Given the description of an element on the screen output the (x, y) to click on. 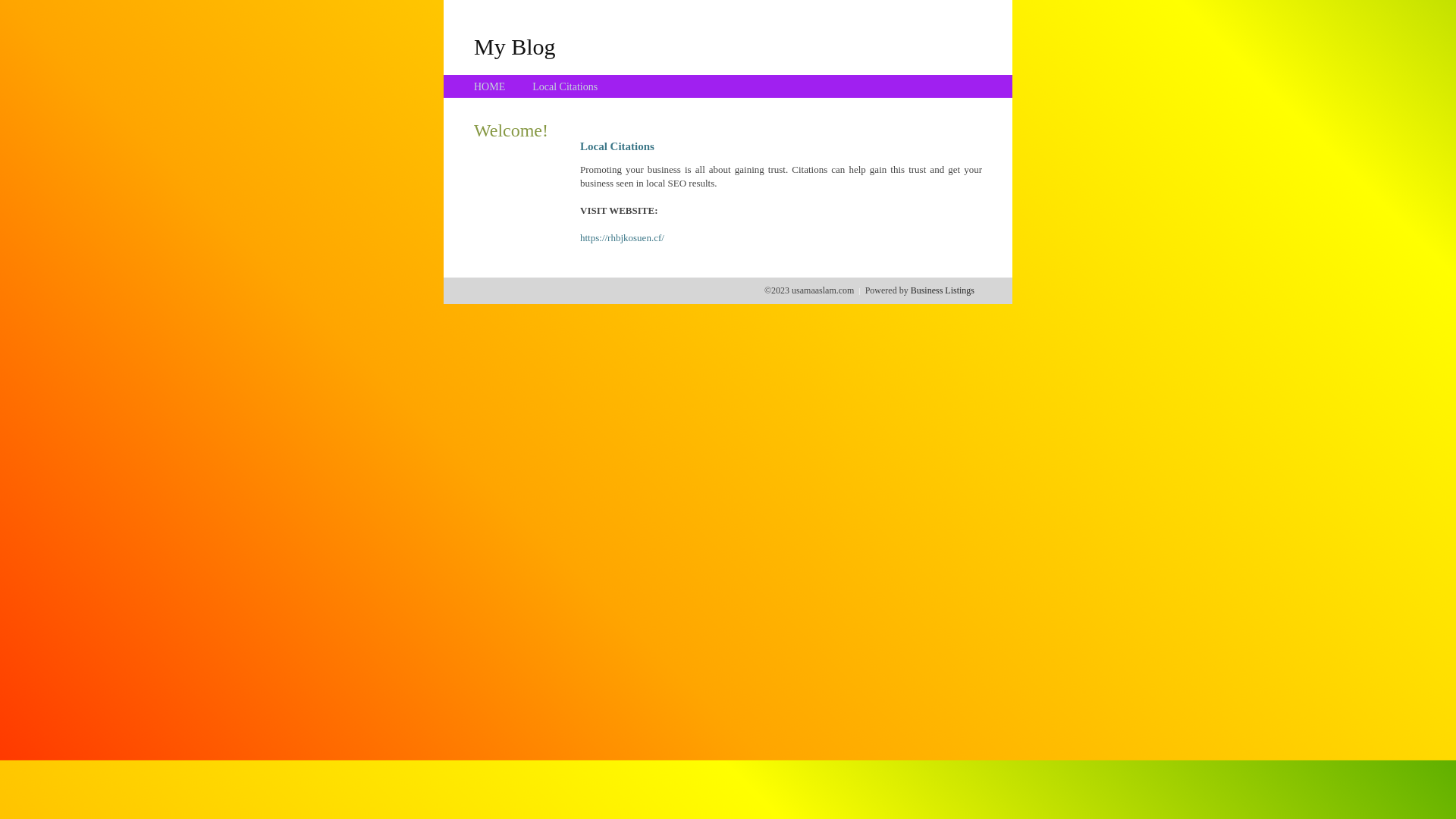
My Blog Element type: text (514, 46)
Local Citations Element type: text (564, 86)
Business Listings Element type: text (942, 290)
HOME Element type: text (489, 86)
https://rhbjkosuen.cf/ Element type: text (622, 237)
